Given the description of an element on the screen output the (x, y) to click on. 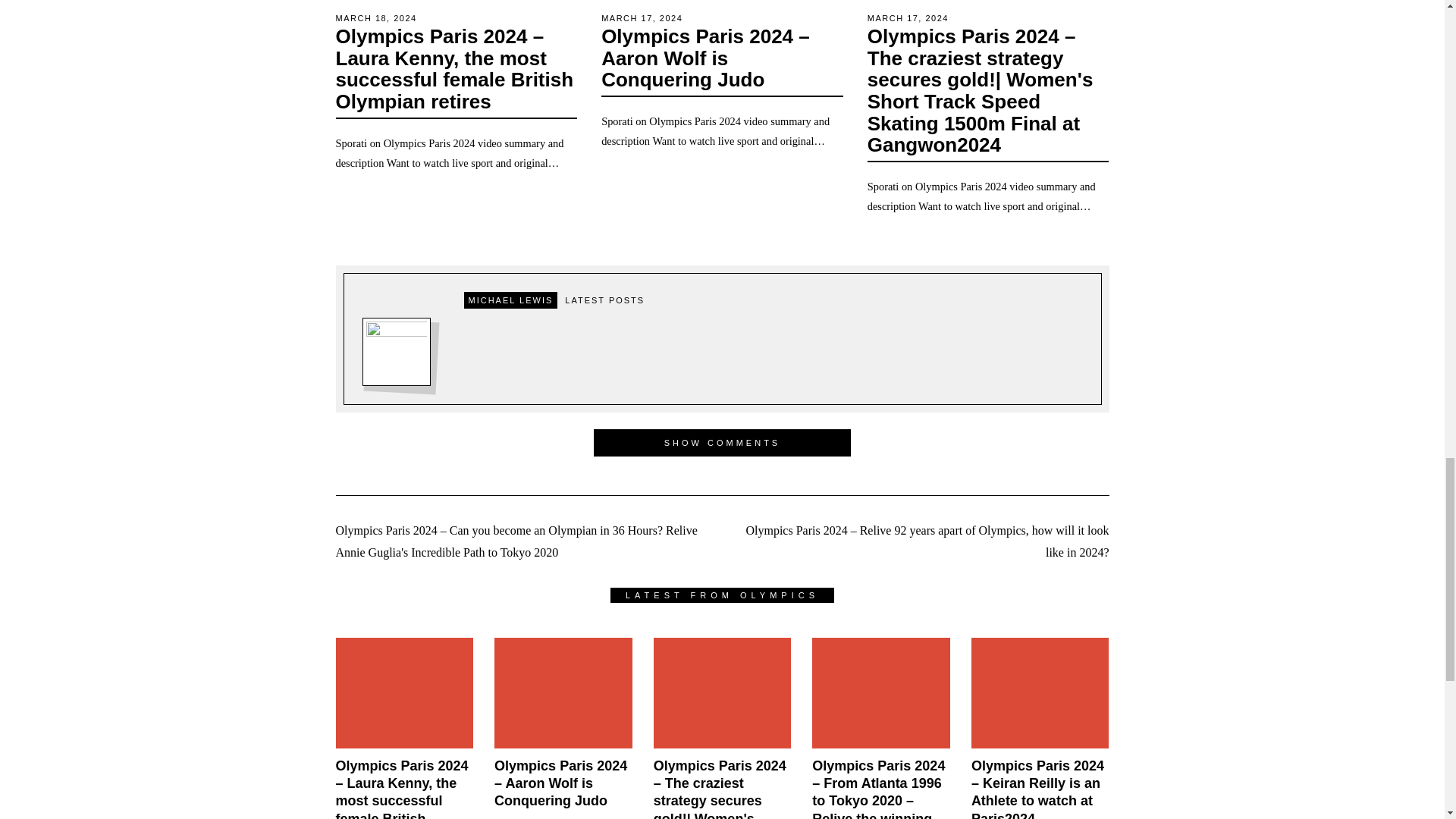
MICHAEL LEWIS (510, 300)
LATEST POSTS (604, 300)
SHOW COMMENTS (722, 442)
